Given the description of an element on the screen output the (x, y) to click on. 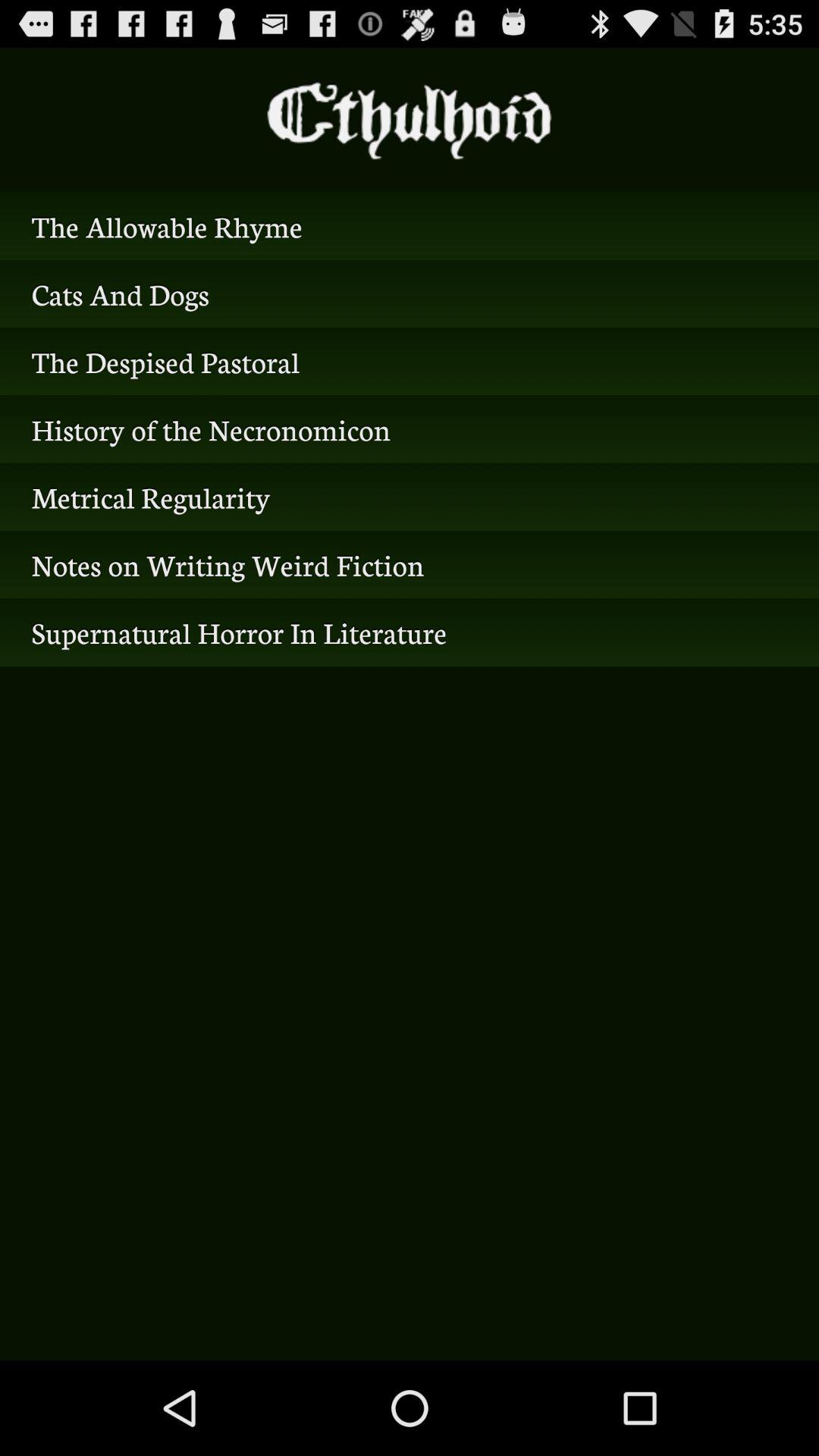
select cats and dogs icon (409, 293)
